Given the description of an element on the screen output the (x, y) to click on. 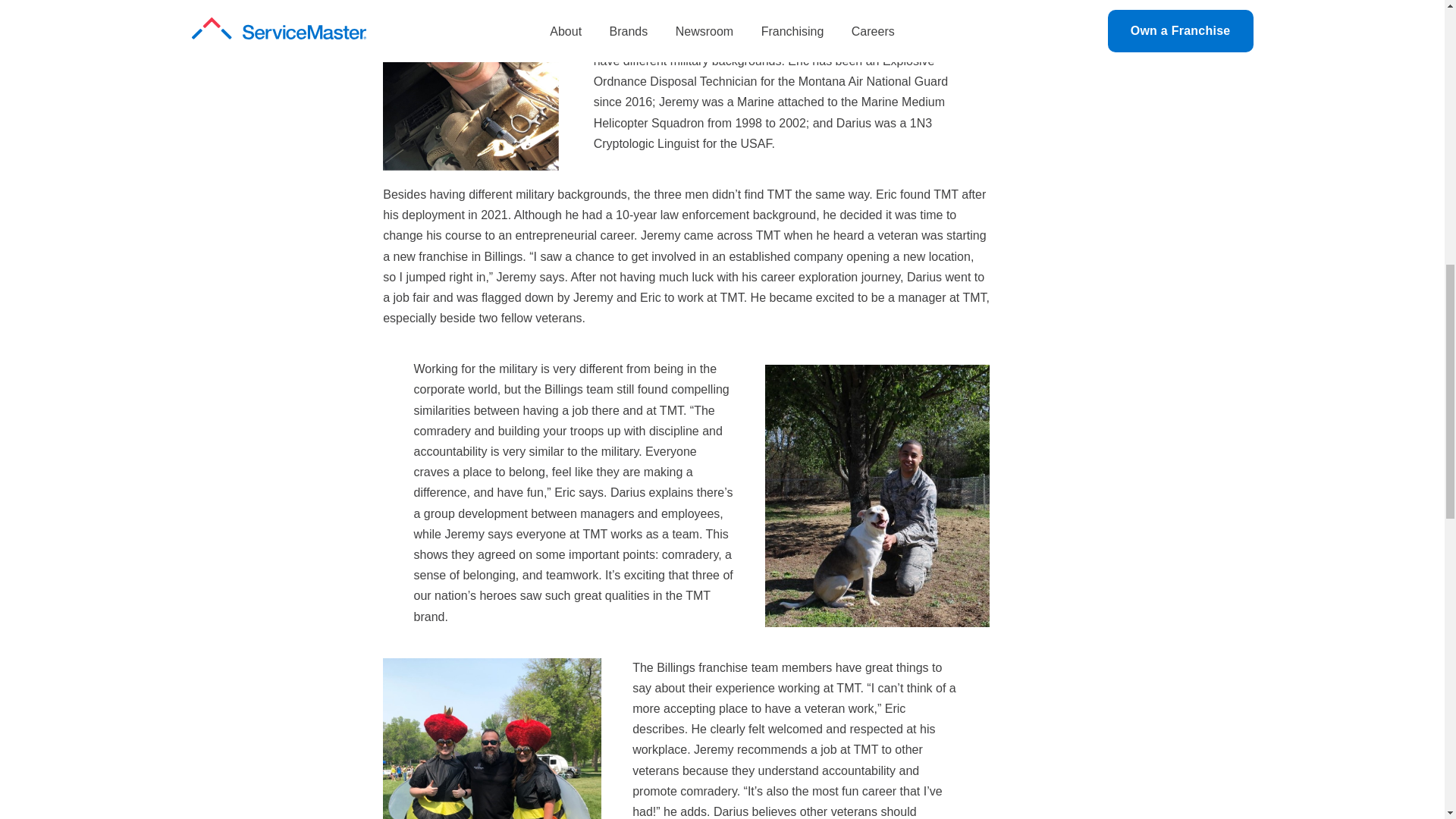
Email (207, 12)
Email (207, 12)
Copy Link (207, 42)
Copy Link (207, 42)
